Given the description of an element on the screen output the (x, y) to click on. 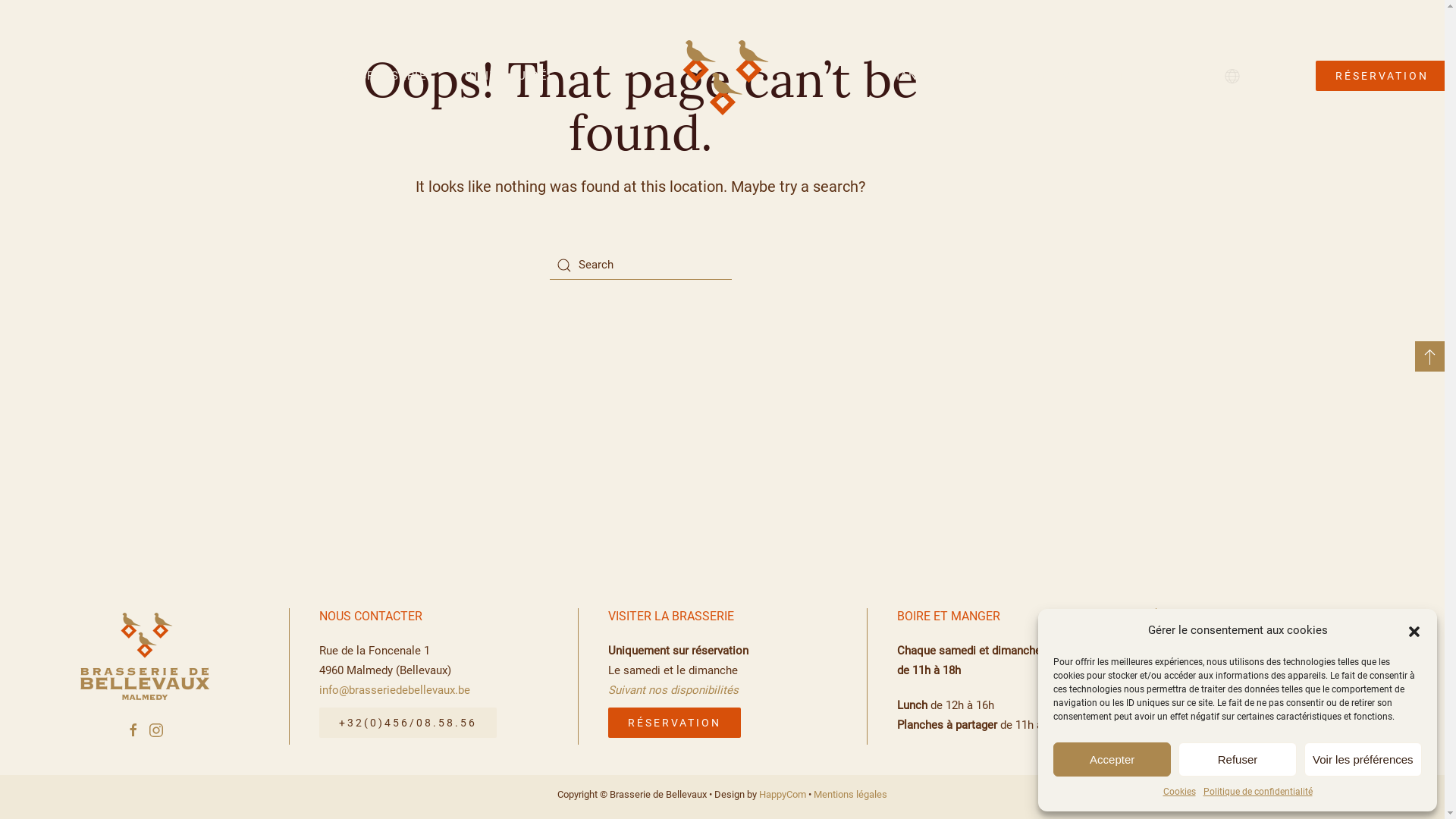
HappyCom Element type: text (782, 794)
Manger & Boire Element type: text (1300, 664)
info@brasseriedebellevaux.be Element type: text (394, 689)
MICRO-BRASSERIE Element type: text (370, 75)
F.A.Q. Element type: text (1237, 729)
Micro-Brasserie Element type: text (1300, 619)
Accepter Element type: text (1111, 759)
Cookies Element type: text (1179, 792)
MANGER & BOIRE Element type: text (941, 75)
+32(0)456/08.58.56 Element type: text (407, 722)
Refuser Element type: text (1236, 759)
NEWS Element type: text (1347, 729)
NL Element type: text (1243, 75)
ACCUEIL Element type: text (249, 75)
